Given the description of an element on the screen output the (x, y) to click on. 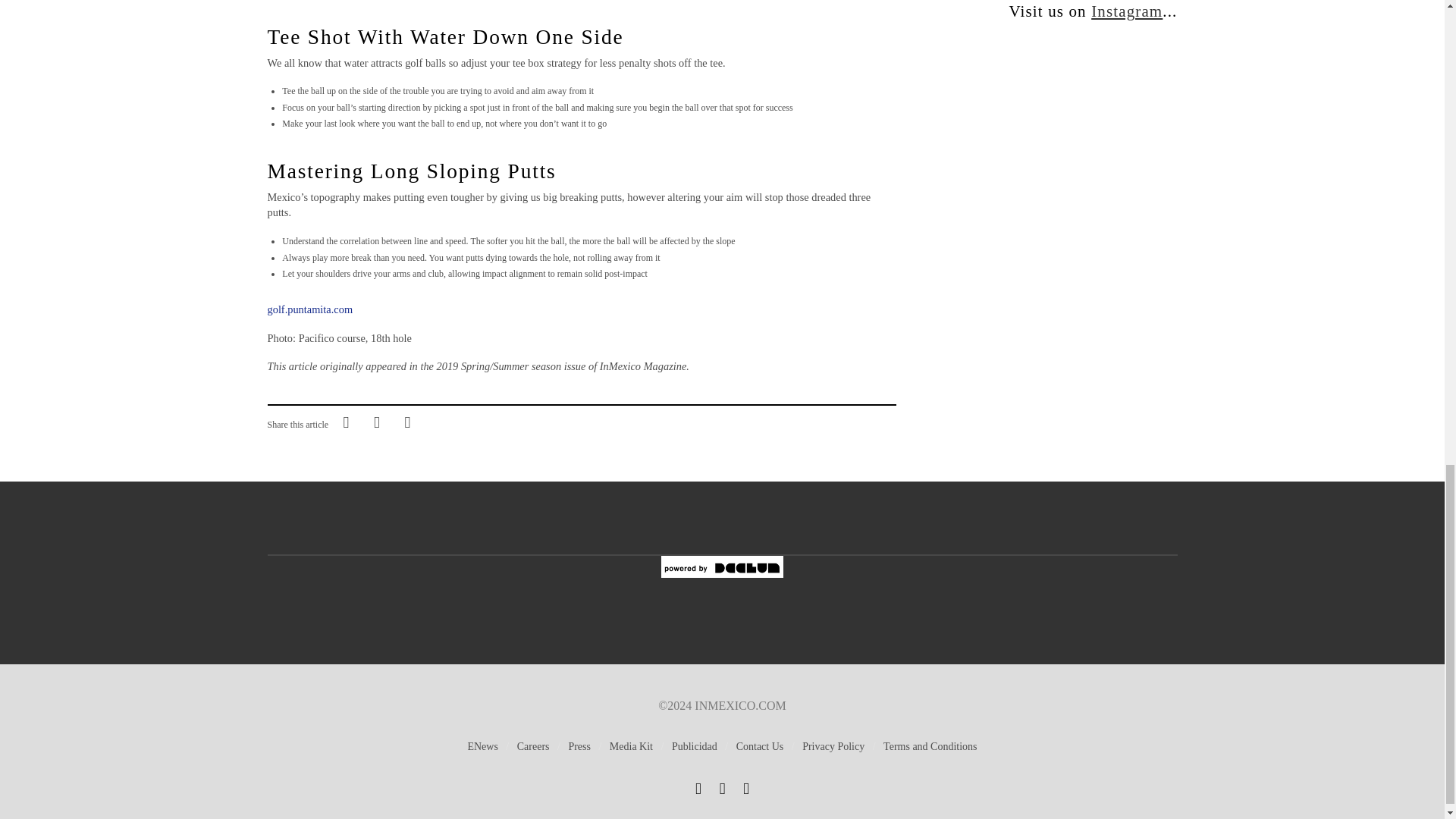
Share on Email (407, 420)
Share on Facebook (345, 420)
Share on Twitter (376, 420)
